Given the description of an element on the screen output the (x, y) to click on. 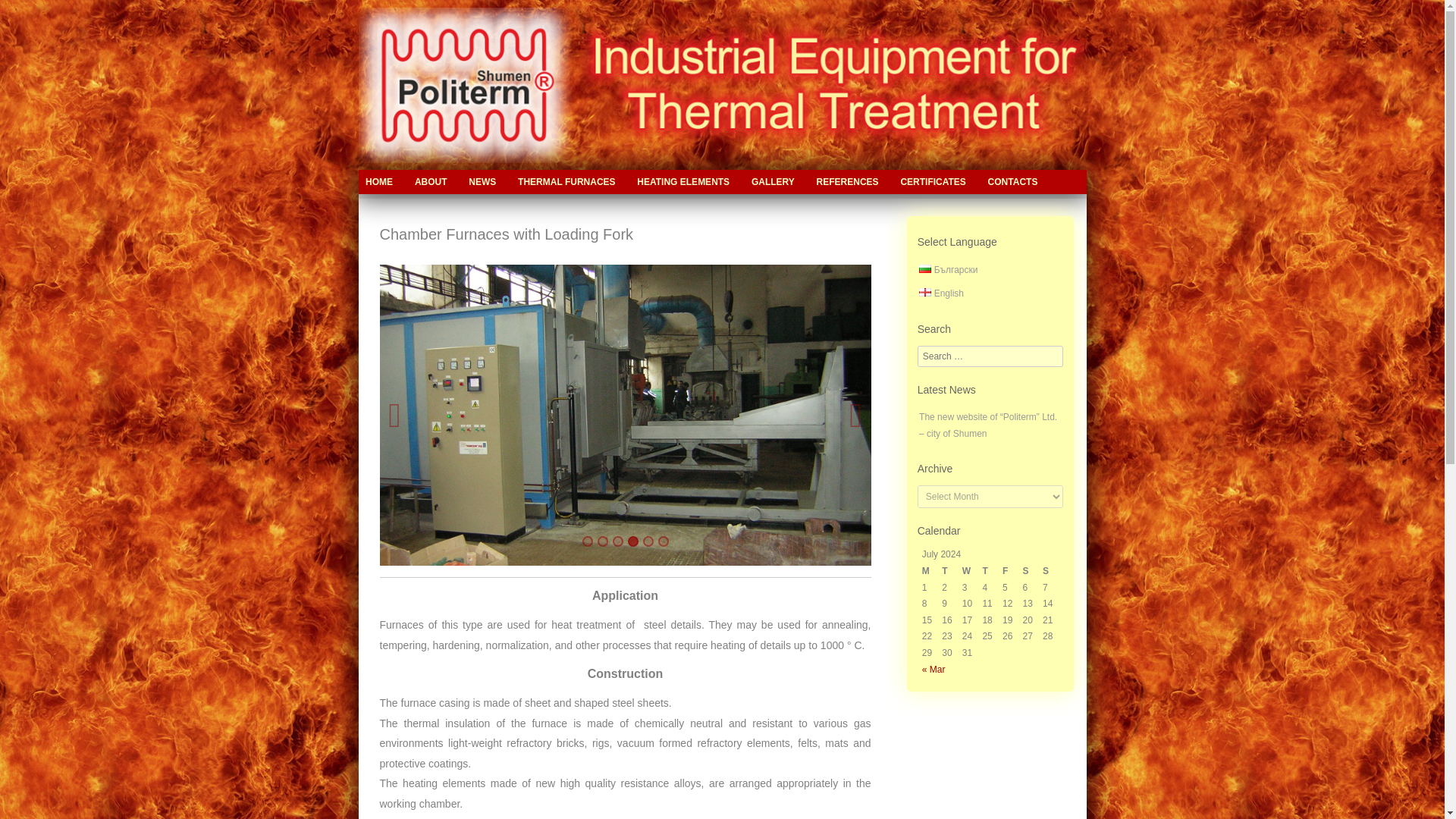
NEWS (482, 181)
SKIP TO CONTENT (406, 181)
HEATING ELEMENTS (683, 181)
Skip to content (406, 181)
ABOUT (430, 181)
THERMAL FURNACES (567, 181)
HOME (378, 181)
